Given the description of an element on the screen output the (x, y) to click on. 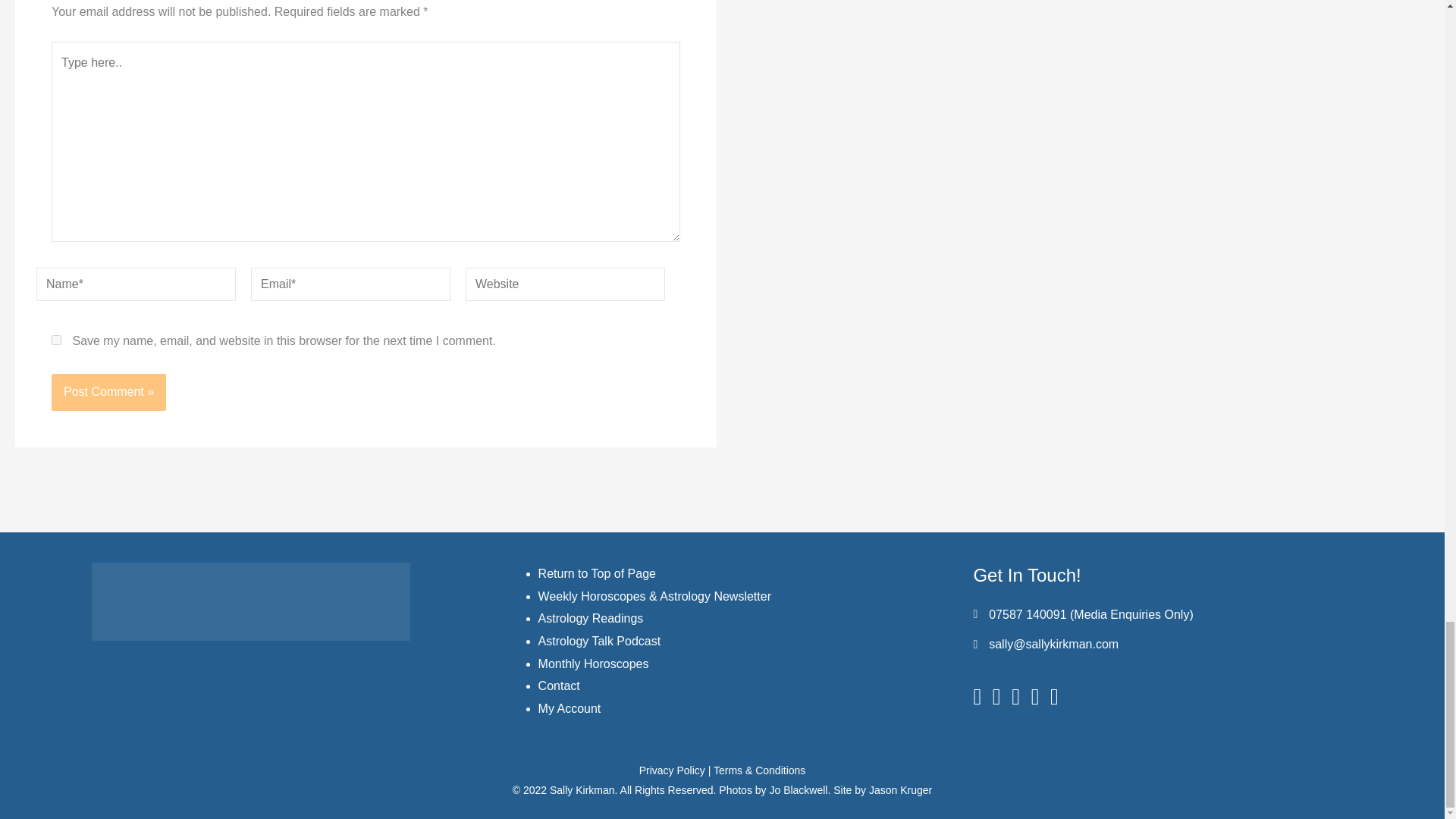
SALLY KIRKMAN ASTROLOGER WHITE (250, 601)
yes (55, 339)
